Given the description of an element on the screen output the (x, y) to click on. 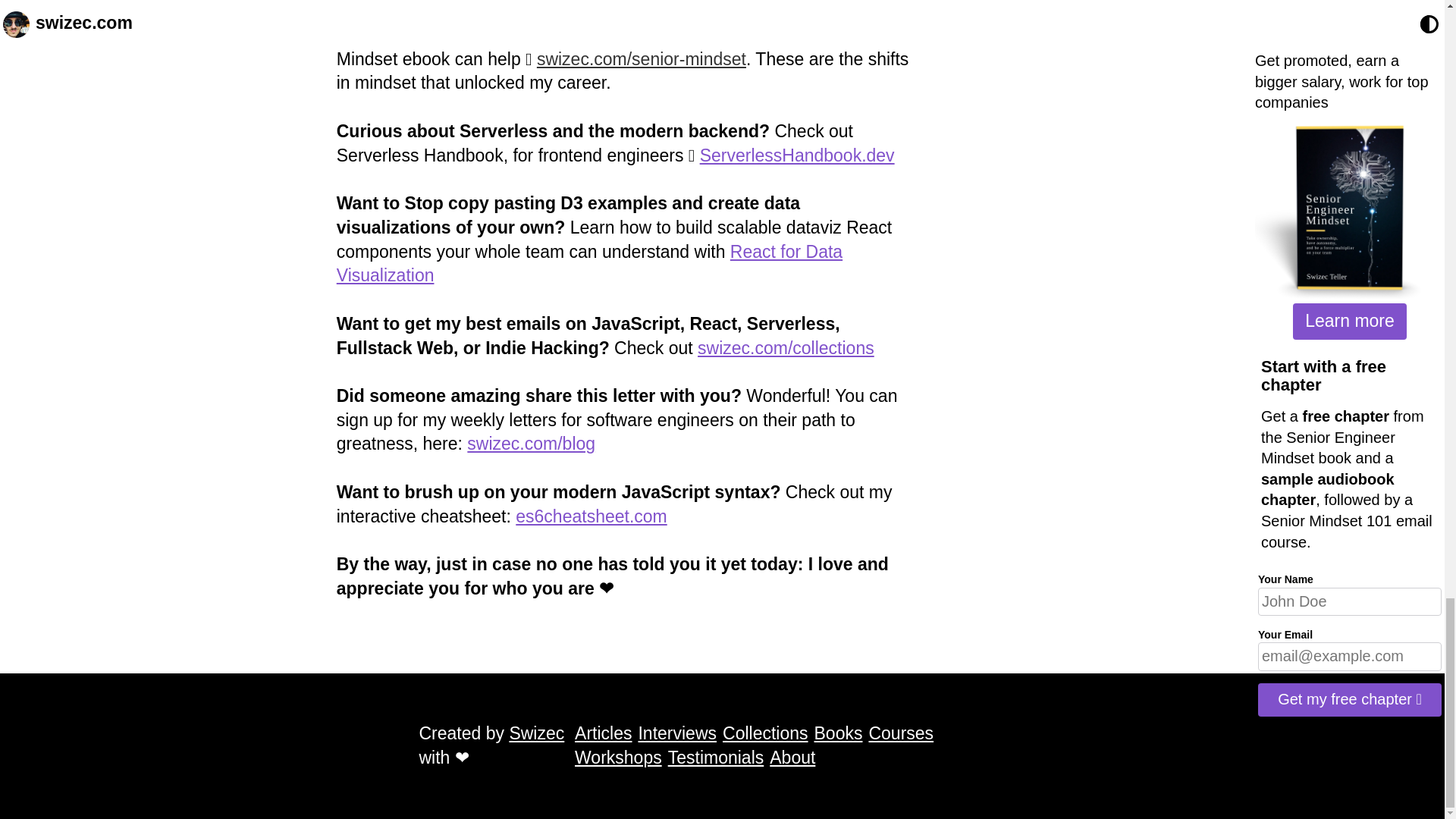
React for Data Visualization (589, 263)
Interviews (676, 733)
Workshops (618, 758)
es6cheatsheet.com (590, 516)
Courses (900, 733)
Articles (603, 733)
Books (838, 733)
Swizec (536, 732)
Collections (765, 733)
ServerlessHandbook.dev (797, 155)
